Given the description of an element on the screen output the (x, y) to click on. 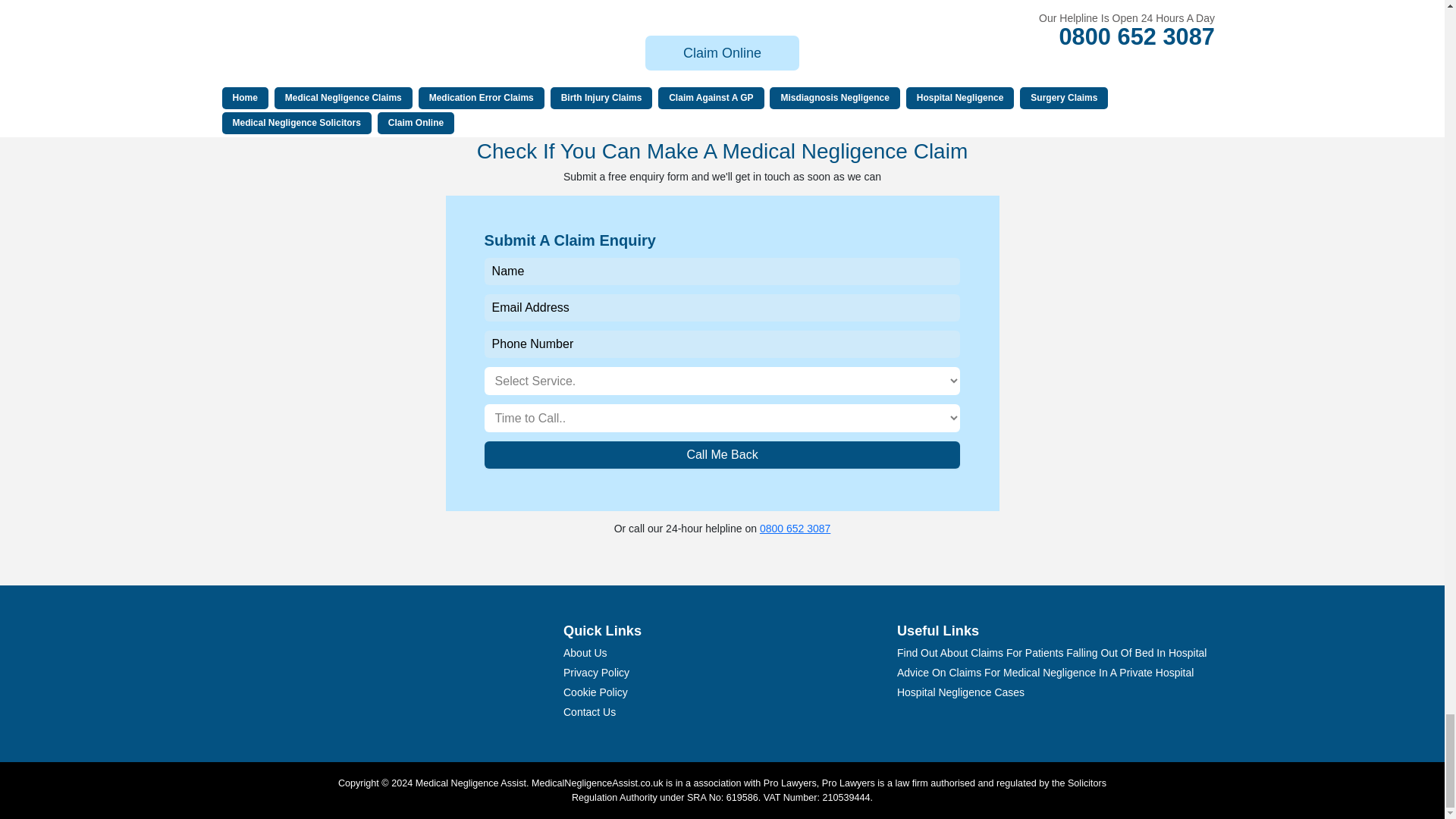
Call Me Back (722, 454)
